Given the description of an element on the screen output the (x, y) to click on. 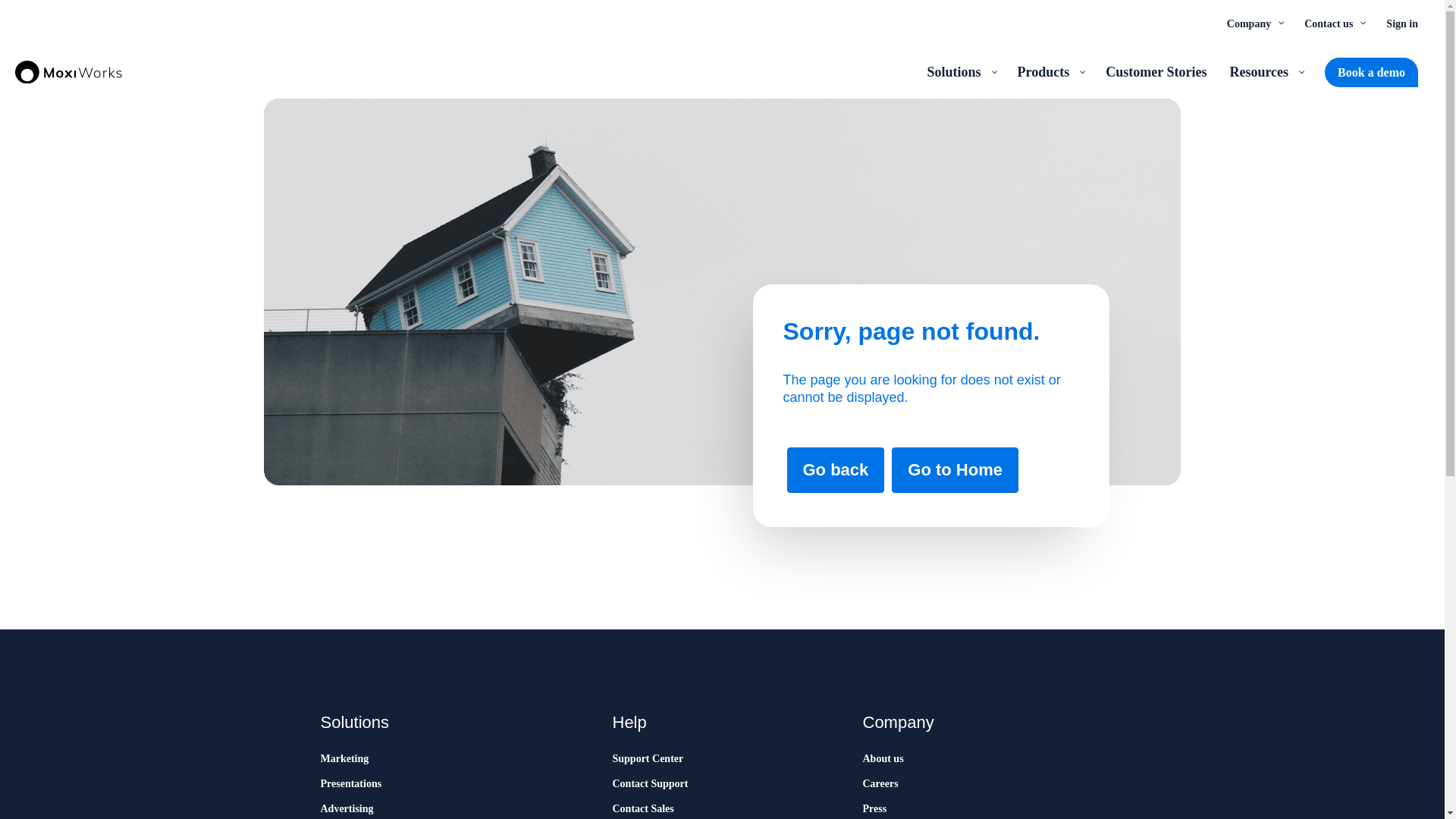
Products (1050, 72)
Sign in (1401, 22)
Company (1253, 22)
Solutions (960, 72)
Contact us (1333, 22)
